Given the description of an element on the screen output the (x, y) to click on. 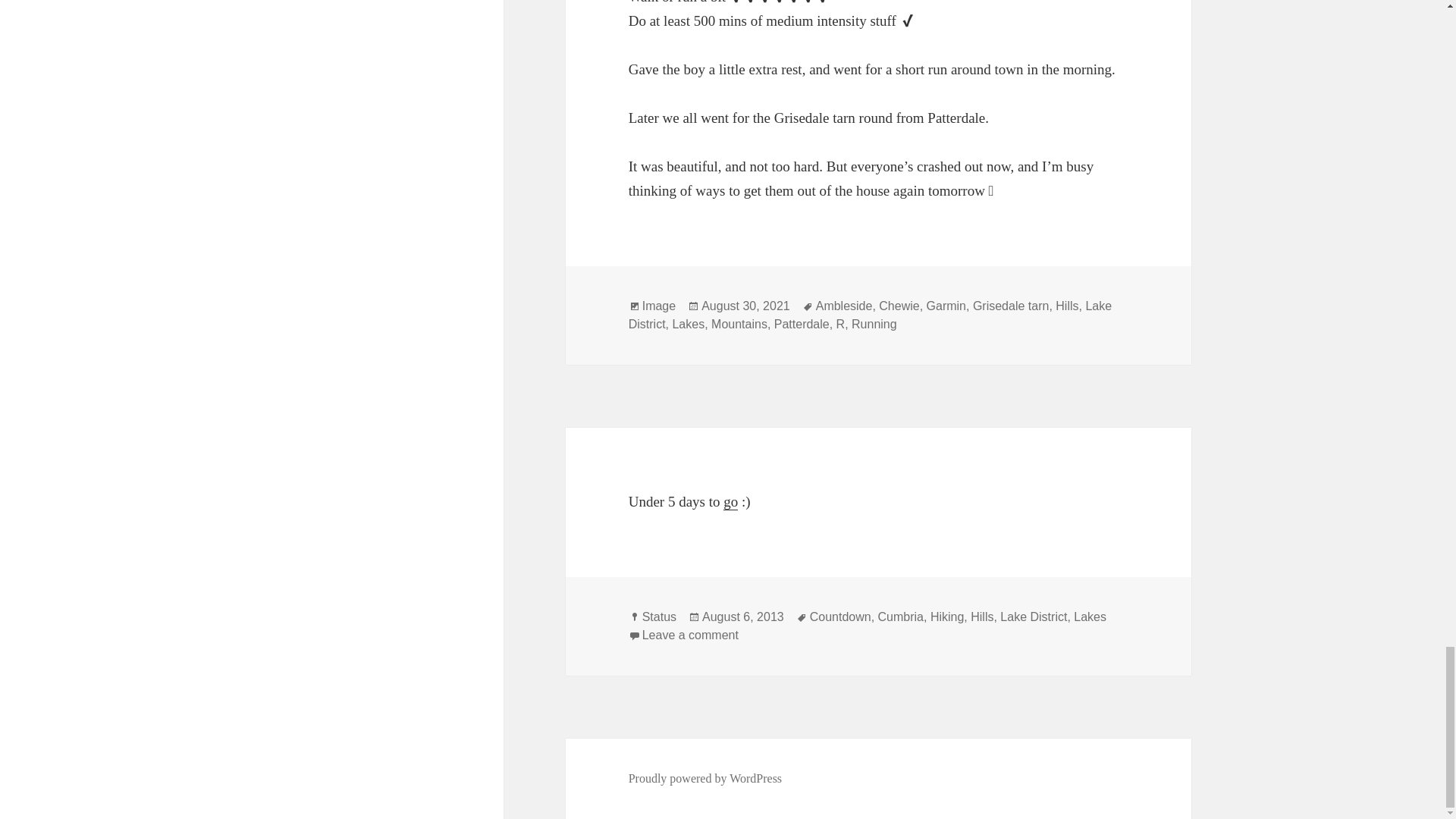
August 30, 2021 (745, 305)
Image (658, 305)
Ambleside (843, 305)
Chewie (898, 305)
